Given the description of an element on the screen output the (x, y) to click on. 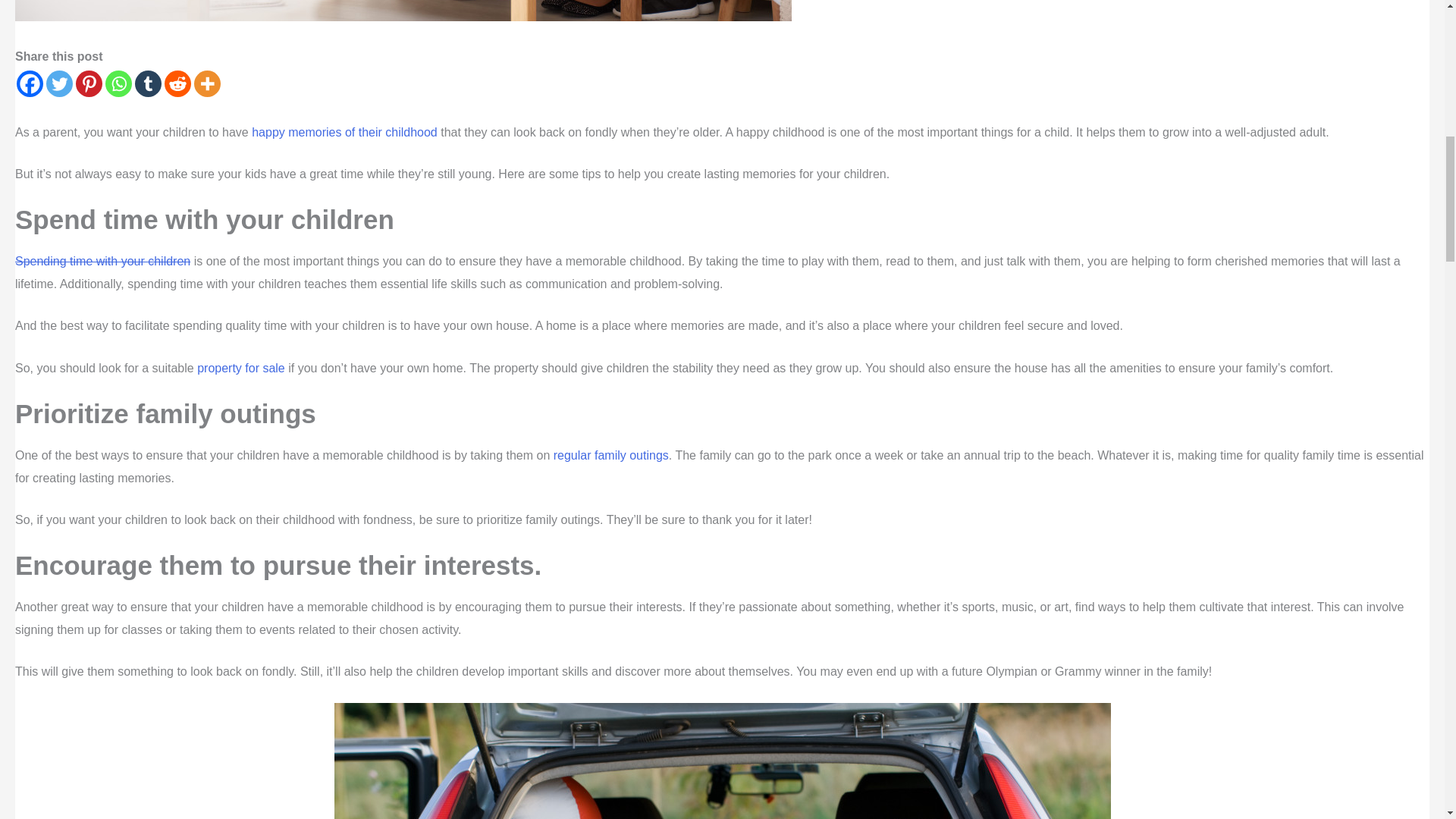
Whatsapp (118, 83)
Facebook (29, 83)
happy memories of their childhood (344, 132)
Twitter (59, 83)
Pinterest (88, 83)
Tumblr (148, 83)
Spending time with your children (102, 260)
Reddit (177, 83)
property for sale (240, 367)
More (207, 83)
Traveling with the Family (721, 760)
regular family outings (610, 454)
